Given the description of an element on the screen output the (x, y) to click on. 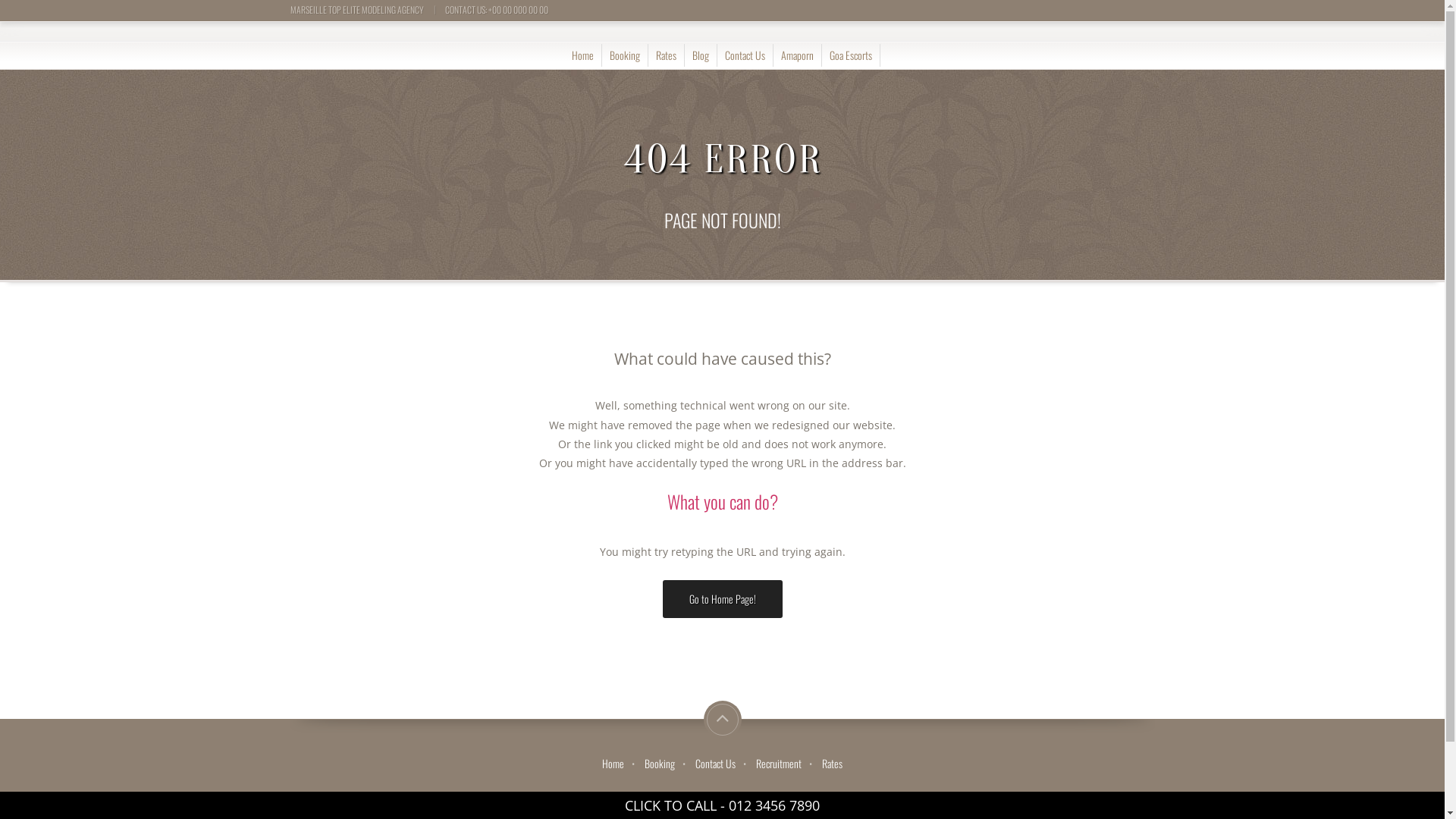
Delhi Escorts Element type: text (1279, 794)
mumbai escorts Element type: text (689, 794)
Go to Home Page! Element type: text (722, 599)
Contact Us Element type: text (715, 763)
Delhi Escorts Element type: text (839, 794)
Rates Element type: text (666, 54)
Goa Escorts Element type: text (850, 54)
Amaporn Element type: text (797, 54)
Booking Element type: text (624, 54)
Contact Us Element type: text (744, 54)
Home Element type: text (582, 54)
Blog Element type: text (700, 54)
Home Element type: text (612, 763)
Begleitservice in Wien Element type: text (520, 794)
Johor Bahru Escort Service Element type: text (416, 794)
Chandigarh escorts Element type: text (611, 794)
Rates Element type: text (832, 763)
Hyderabad Escorts Element type: text (768, 794)
012 3456 7890 Element type: text (773, 805)
Booking Element type: text (659, 763)
Mumbai Escorts Element type: text (1214, 794)
Delhi Escorts Element type: text (898, 794)
Chandigarh Escorts Element type: text (972, 794)
Hyderabad Escorts Element type: text (1136, 794)
Bangalore Escorts Element type: text (1054, 794)
Udaipur Escorts Element type: text (322, 794)
Bangalore Escorts Girl Element type: text (182, 794)
Recruitment Element type: text (778, 763)
Delhi Escort Element type: text (258, 794)
